Given the description of an element on the screen output the (x, y) to click on. 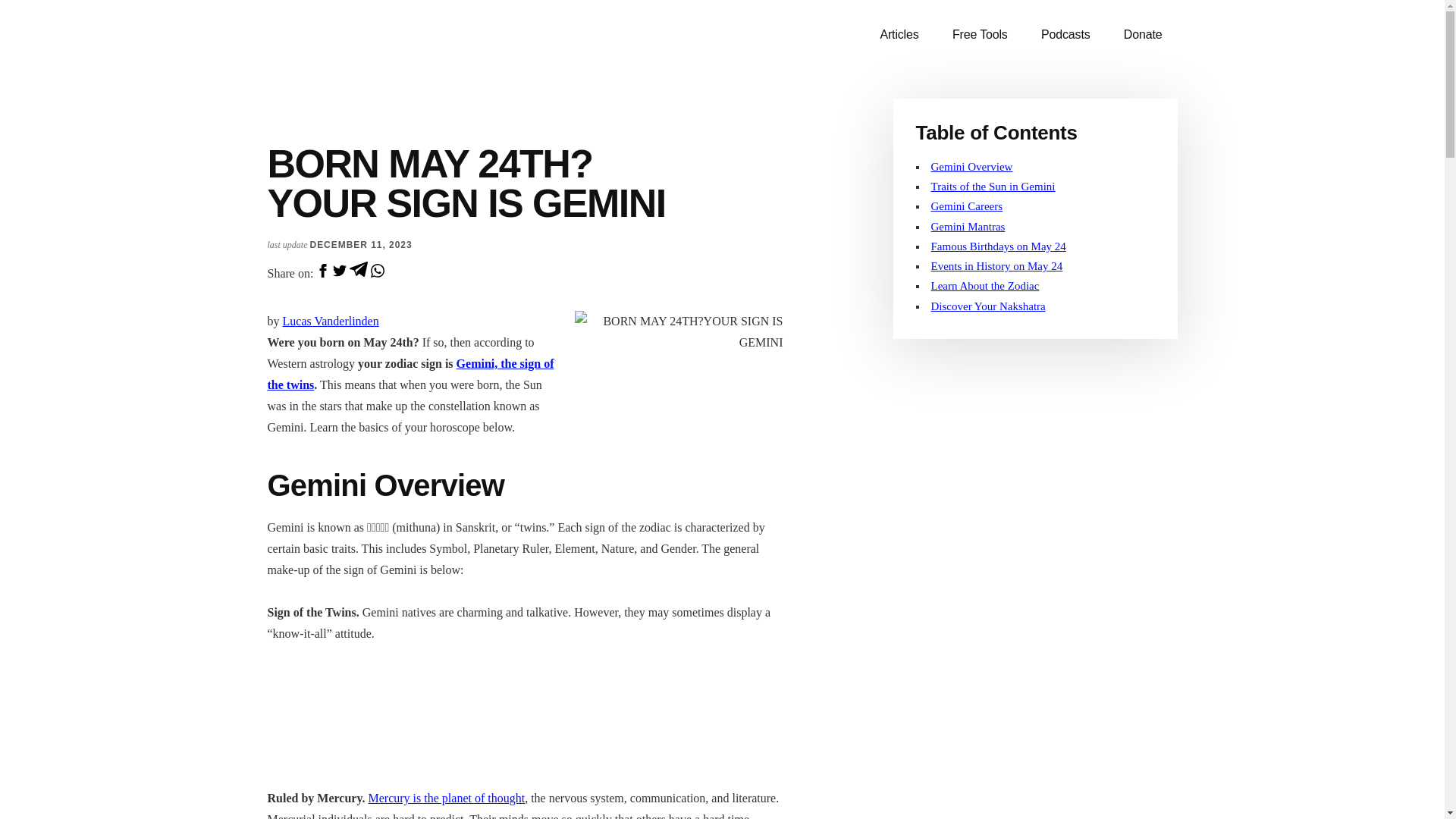
Articles (898, 34)
Popular Vedic Science (380, 45)
Free Tools (980, 34)
Mercury is the planet of thought (446, 797)
Donate (1142, 34)
Gemini, the sign of the twins (409, 374)
Podcasts (1065, 34)
Lucas Vanderlinden (330, 320)
